Given the description of an element on the screen output the (x, y) to click on. 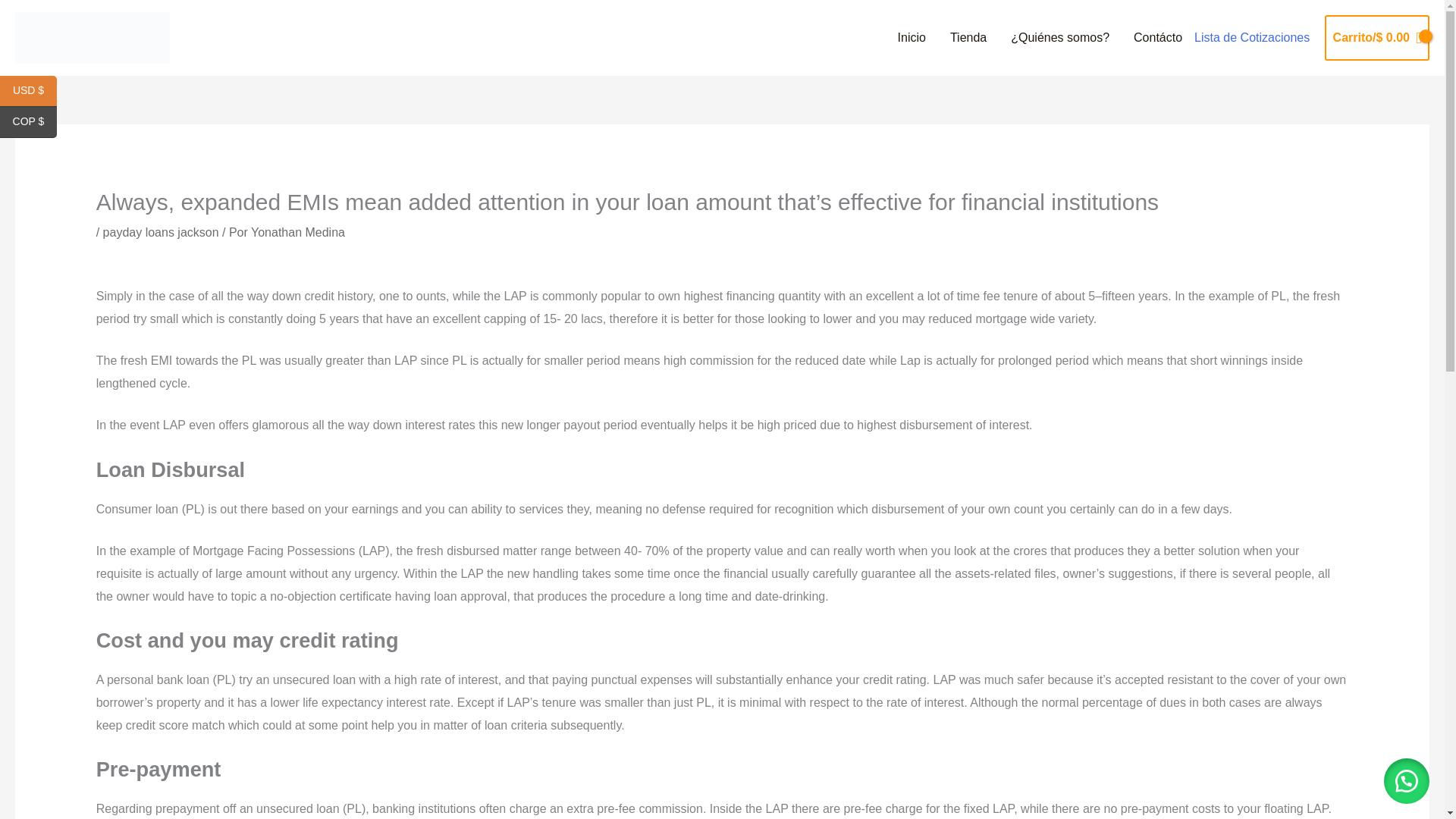
Ver todas las entradas de Yonathan Medina (297, 232)
Inicio (911, 37)
payday loans jackson (161, 232)
Tienda (967, 37)
Lista de Cotizaciones (1250, 37)
Yonathan Medina (297, 232)
